Given the description of an element on the screen output the (x, y) to click on. 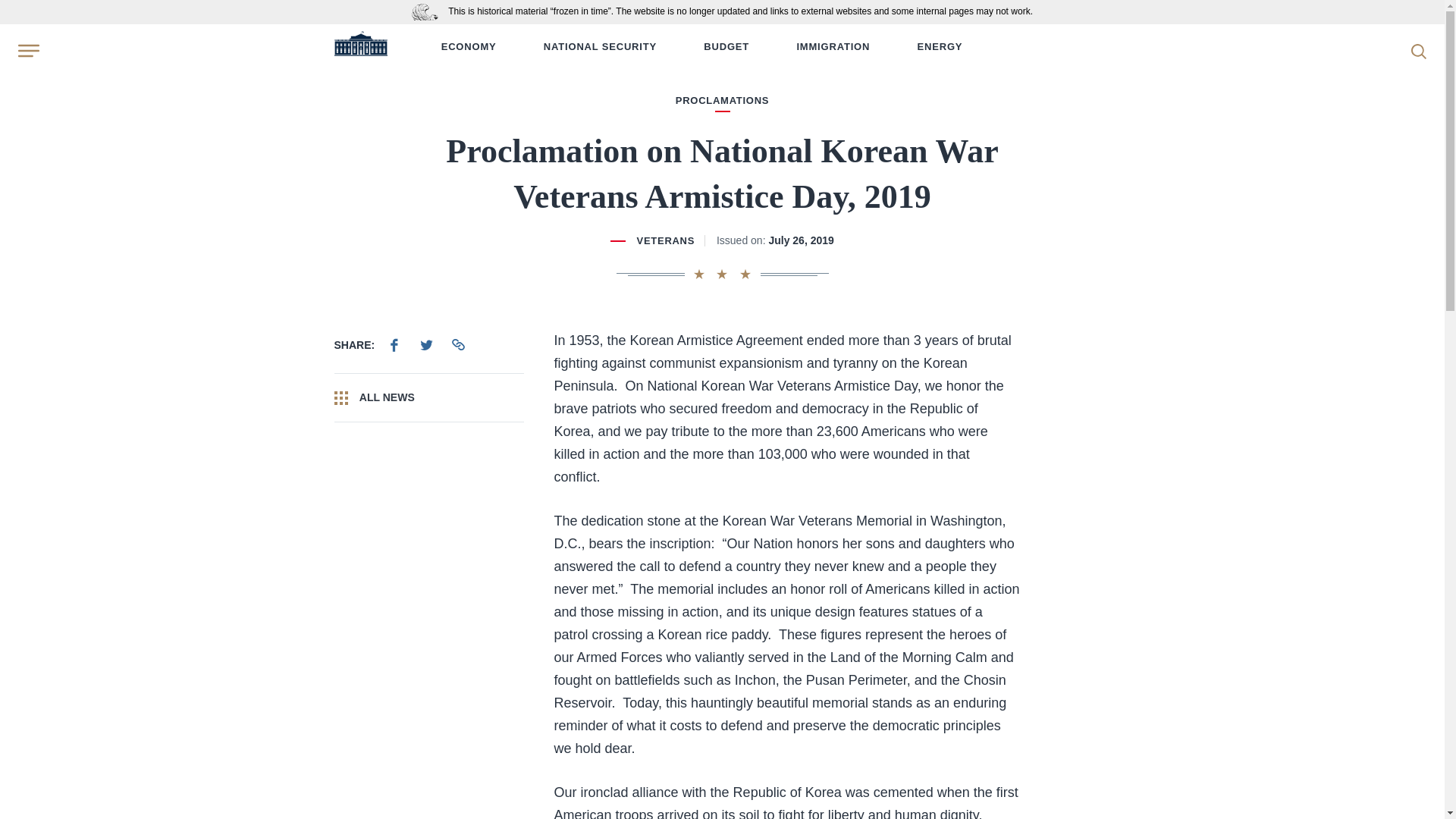
National Archives (428, 10)
ECONOMY (468, 46)
VETERANS (666, 240)
WhiteHouse.gov (360, 46)
NATIONAL SECURITY (599, 46)
ENERGY (939, 46)
BUDGET (726, 46)
IMMIGRATION (832, 46)
ALL NEWS (427, 397)
